Given the description of an element on the screen output the (x, y) to click on. 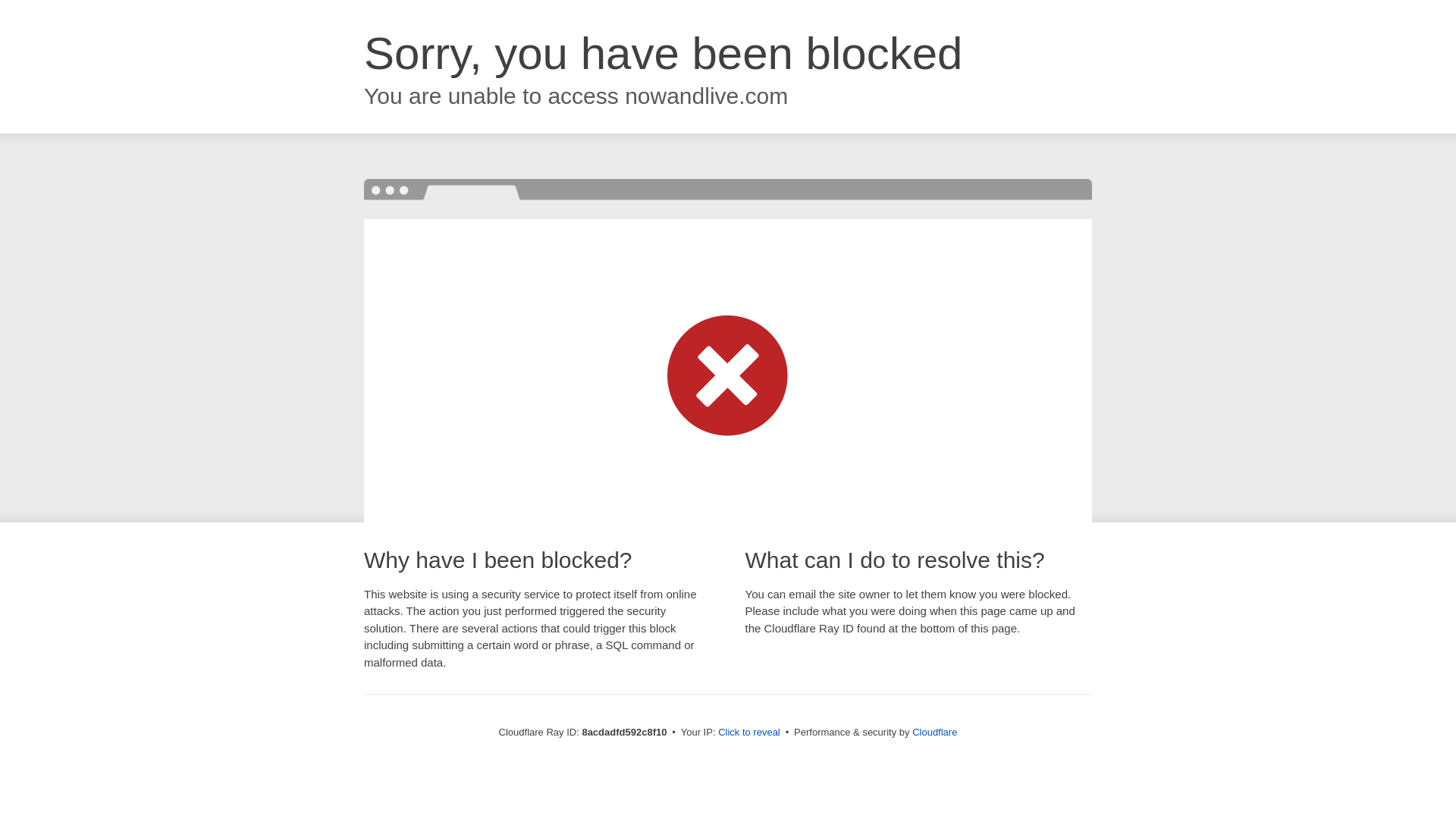
Click to reveal (748, 732)
Cloudflare (934, 731)
